Given the description of an element on the screen output the (x, y) to click on. 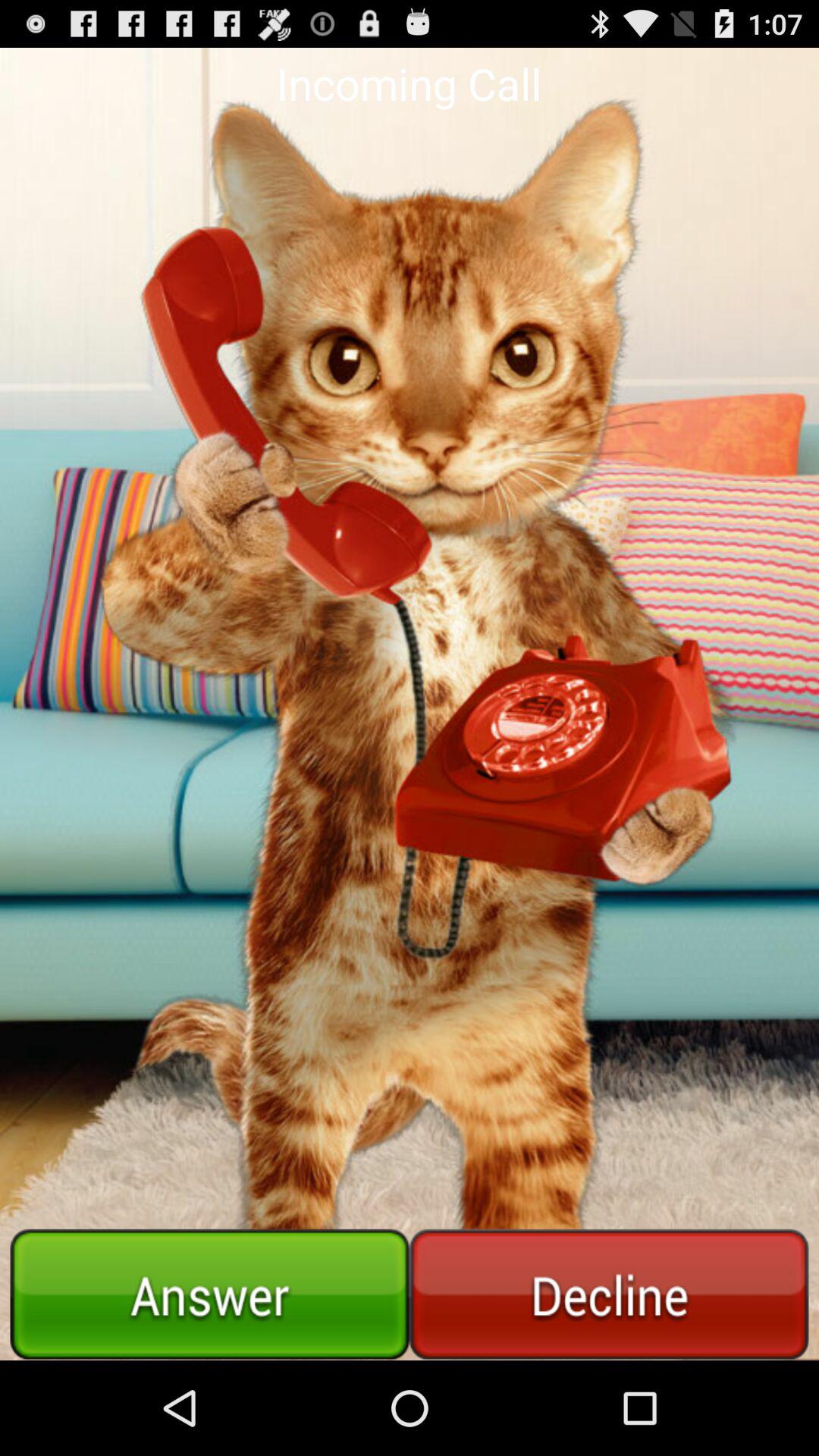
declines phone call (608, 1294)
